Given the description of an element on the screen output the (x, y) to click on. 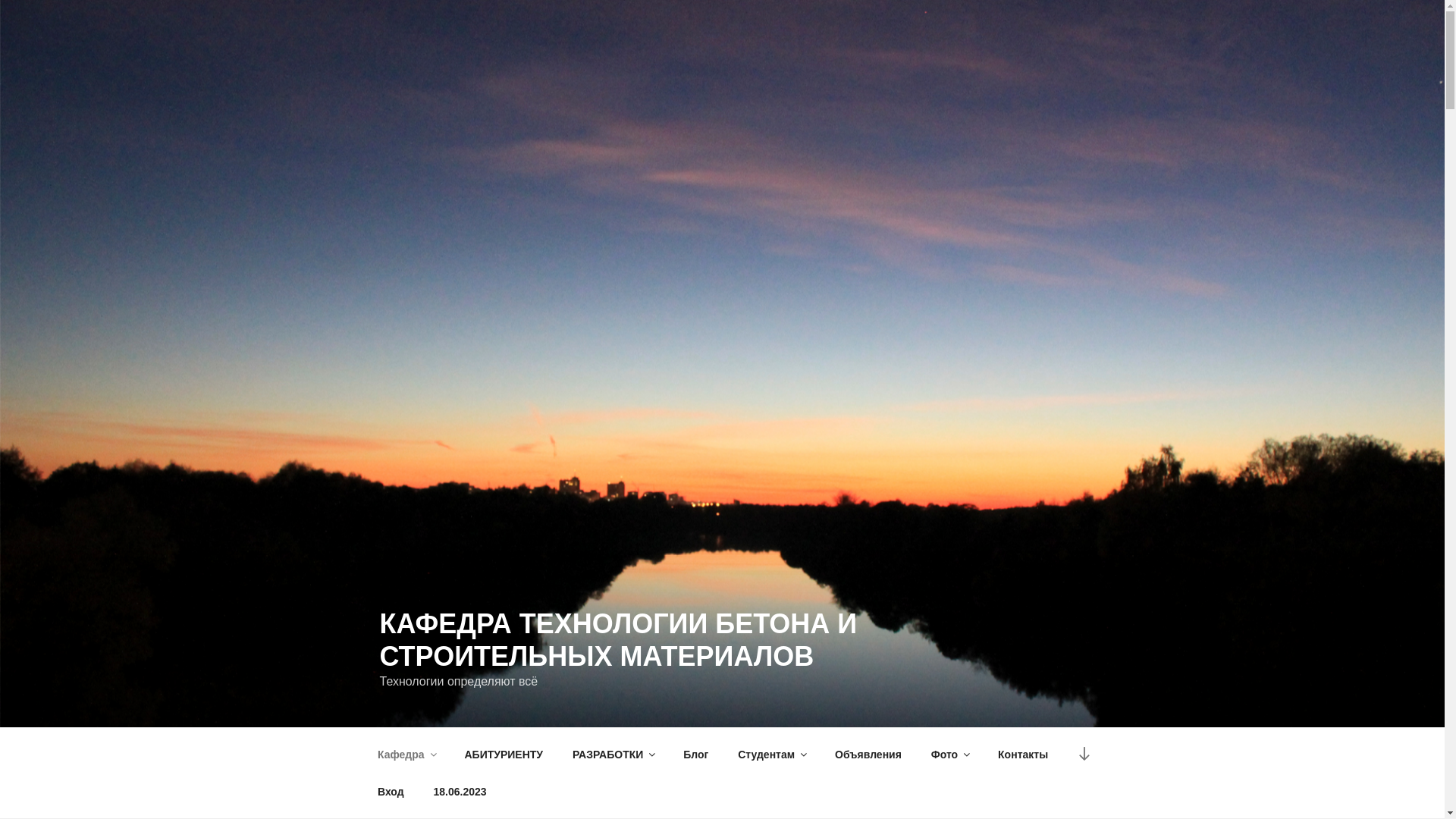
18.06.2023 Element type: text (459, 791)
